Given the description of an element on the screen output the (x, y) to click on. 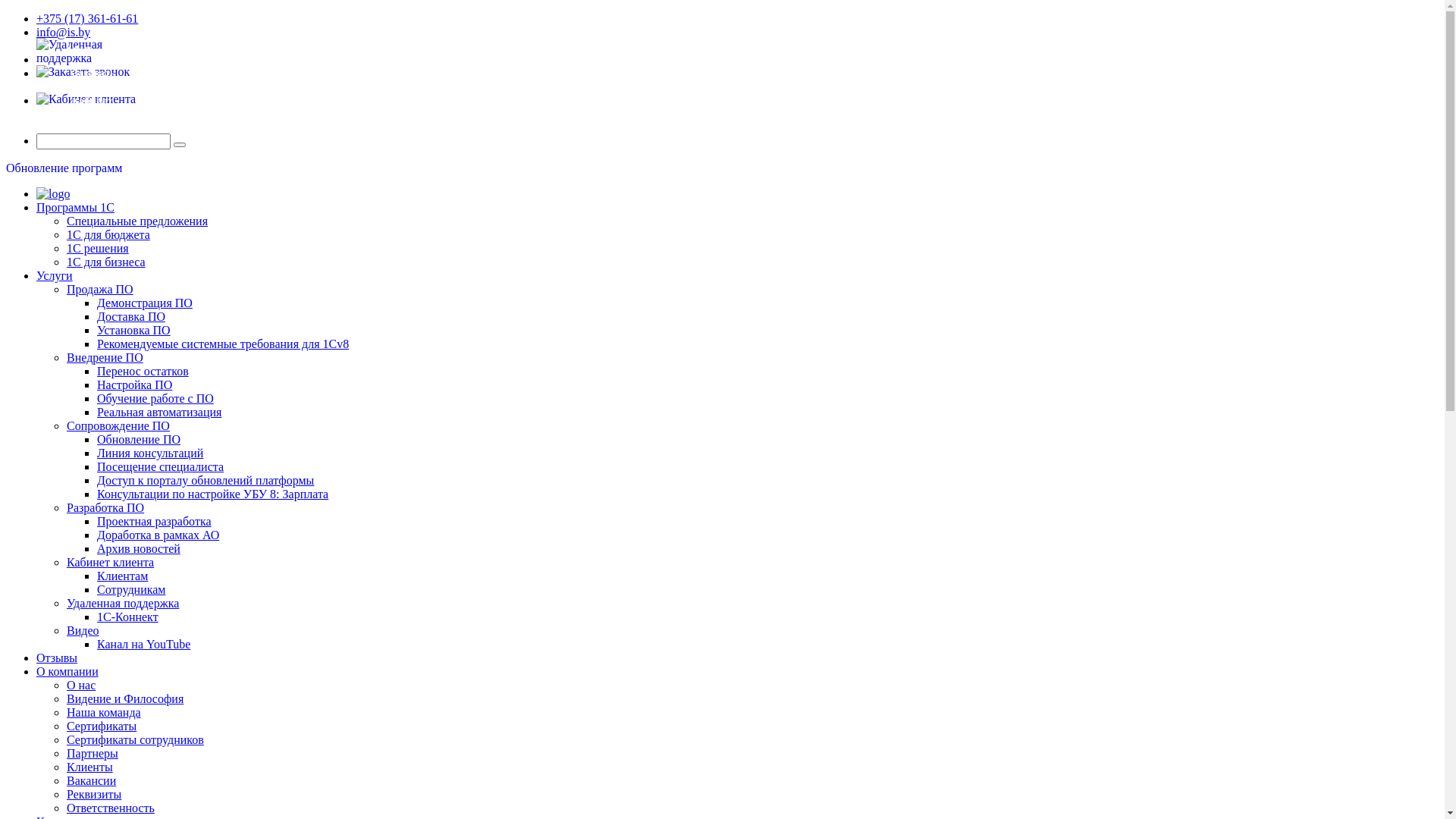
+375 (17) 361-61-61 Element type: text (87, 18)
info@is.by Element type: text (63, 31)
